Given the description of an element on the screen output the (x, y) to click on. 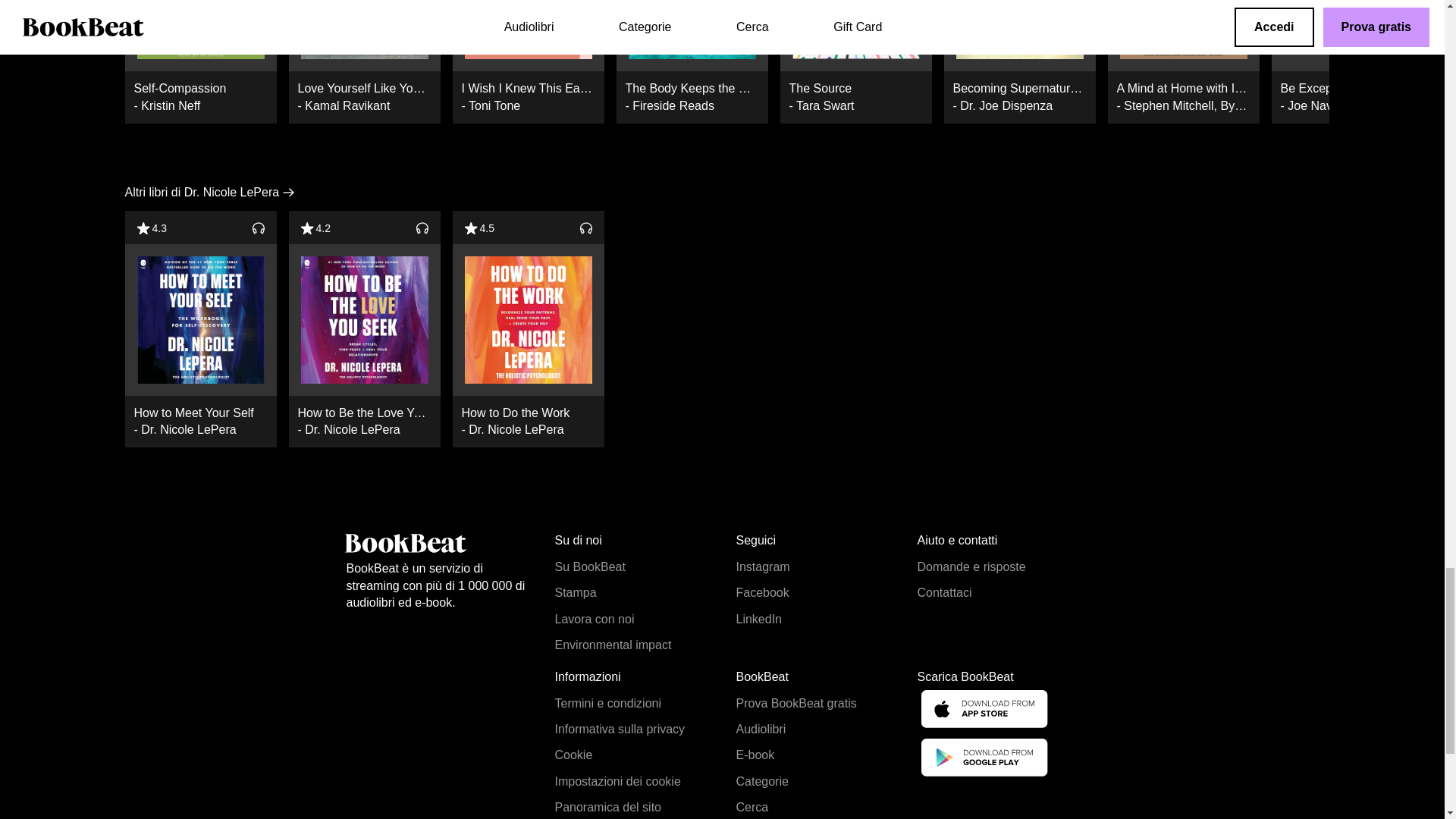
Self-Compassion (199, 29)
I Wish I Knew This Earlier (527, 29)
Item 1 of 20 (199, 61)
Item 4 of 20 (199, 61)
Carousel-container-:r1: (691, 61)
Item 2 of 20 (527, 61)
